Given the description of an element on the screen output the (x, y) to click on. 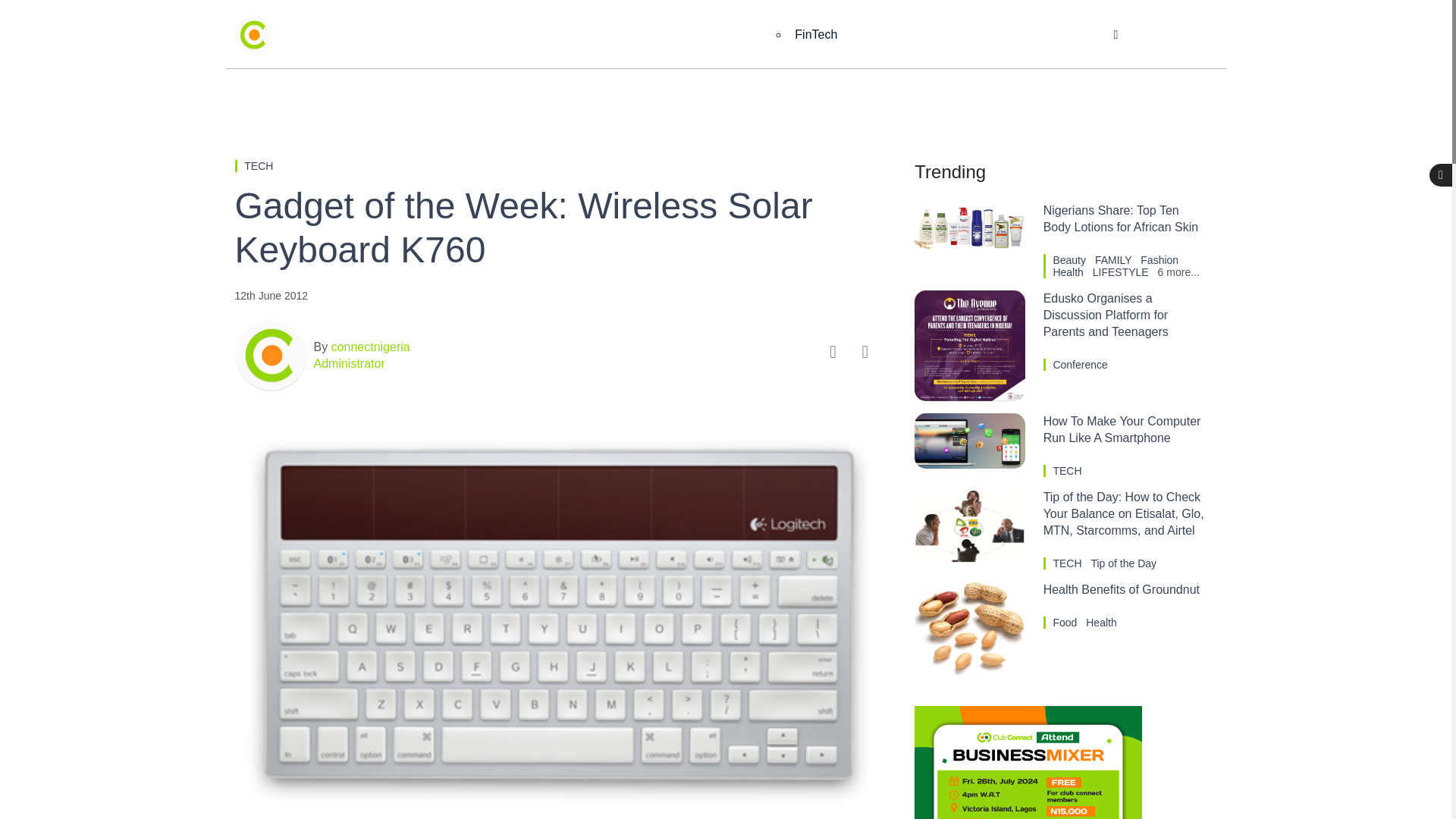
Opportunities (1037, 34)
Politics (739, 34)
Business (547, 34)
Nigerians Share: Top Ten Body Lotions for African Skin (1120, 218)
connectnigeria (368, 346)
FinTech (816, 34)
TECH (258, 165)
FinTech (816, 34)
Sports (866, 34)
Entertainment (646, 34)
Business (547, 34)
Lifestyle (943, 34)
Opportunities (1037, 34)
Home (469, 34)
Gadget of the Week: Wireless Solar Keyboard K760 (558, 227)
